Given the description of an element on the screen output the (x, y) to click on. 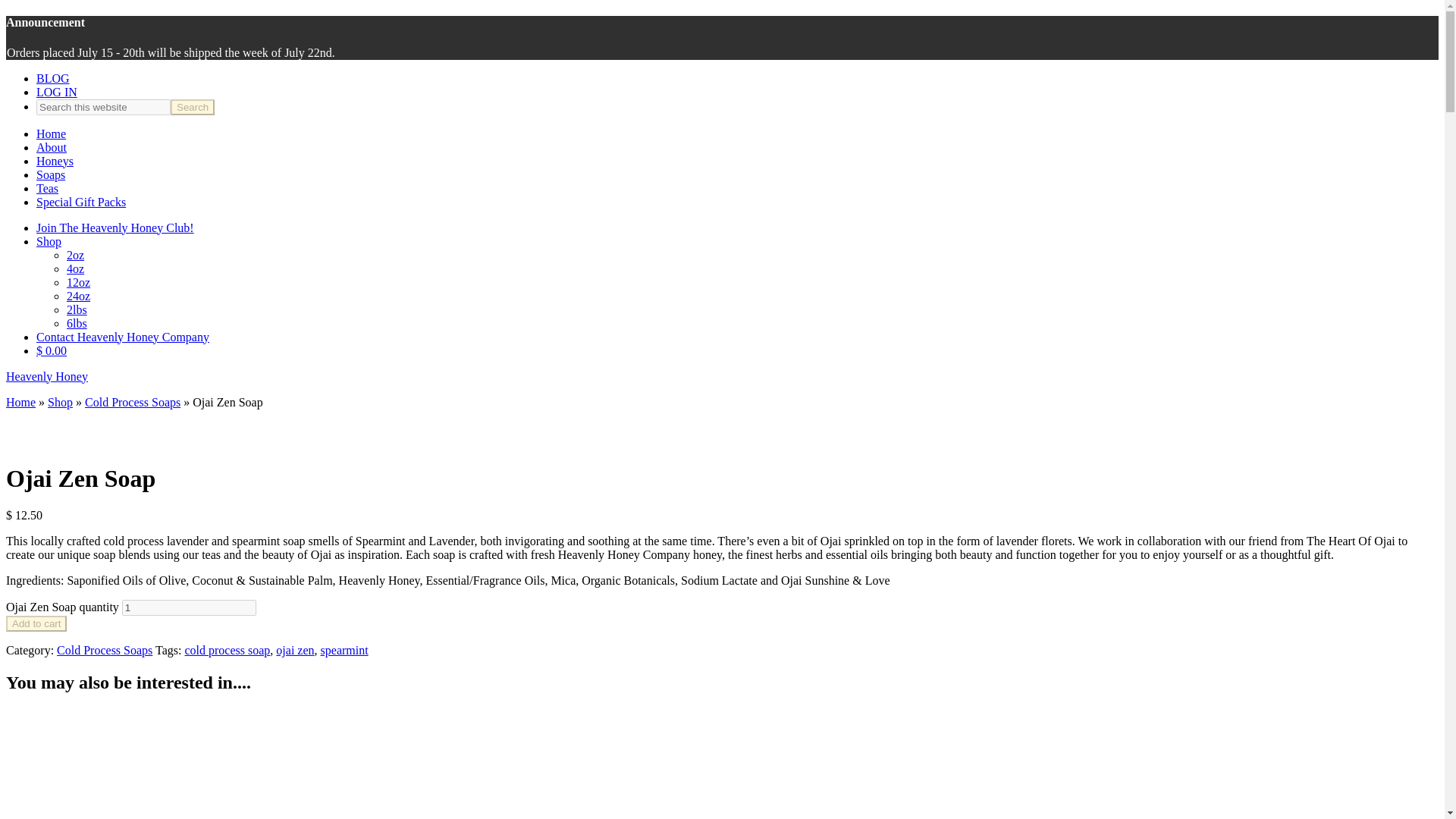
Heavenly Honey (46, 376)
Search (192, 107)
BLOG (52, 78)
Contact Heavenly Honey Company (122, 336)
Start shopping (51, 350)
Cold Process Soaps (132, 401)
24oz (78, 295)
Shop (48, 241)
6lbs (76, 323)
About (51, 146)
1 (189, 607)
2oz (75, 254)
Search (192, 107)
Add to cart (35, 623)
2lbs (76, 309)
